Given the description of an element on the screen output the (x, y) to click on. 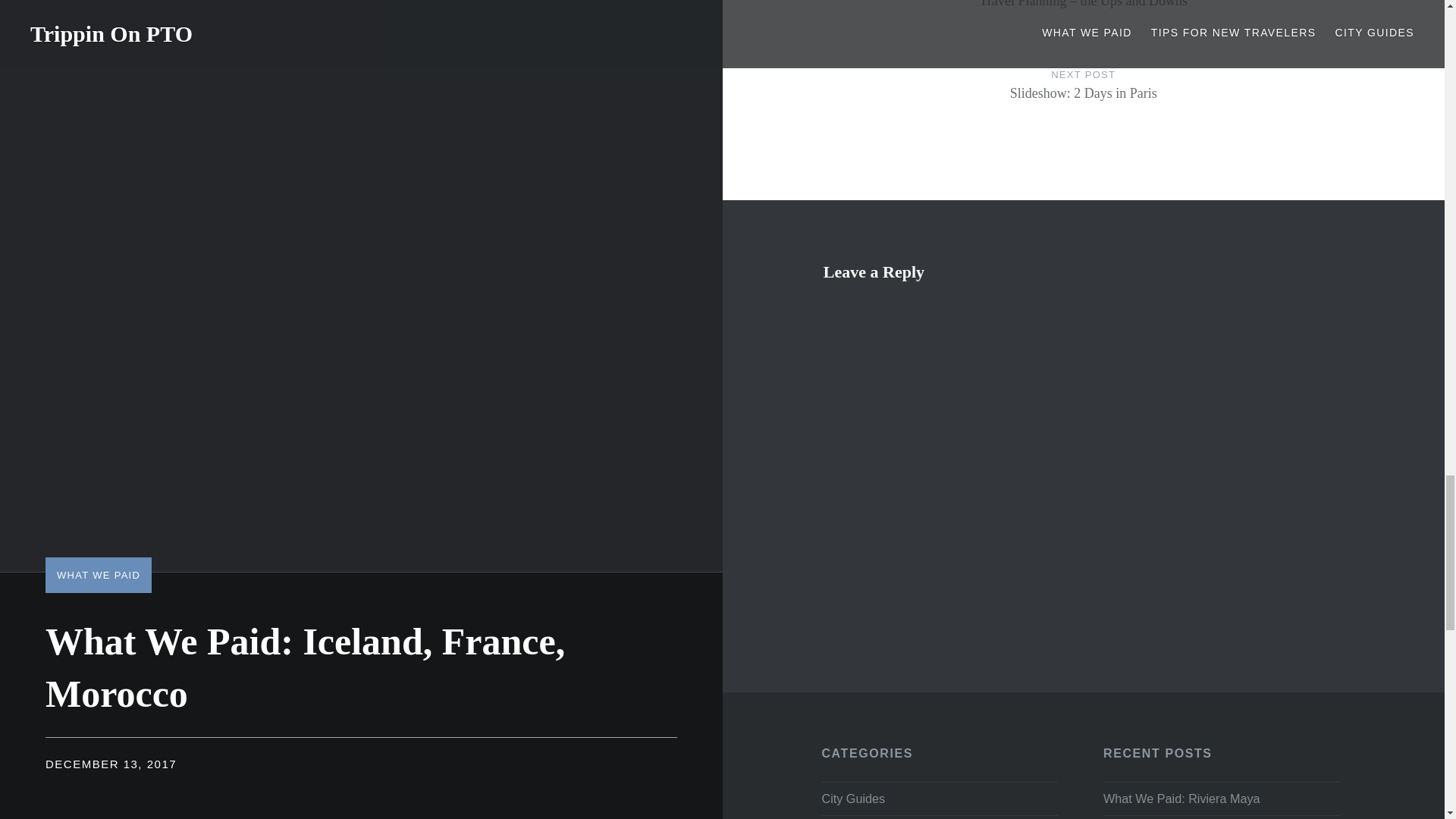
What We Paid: Riviera Maya (1221, 798)
City Guides (853, 798)
